Given the description of an element on the screen output the (x, y) to click on. 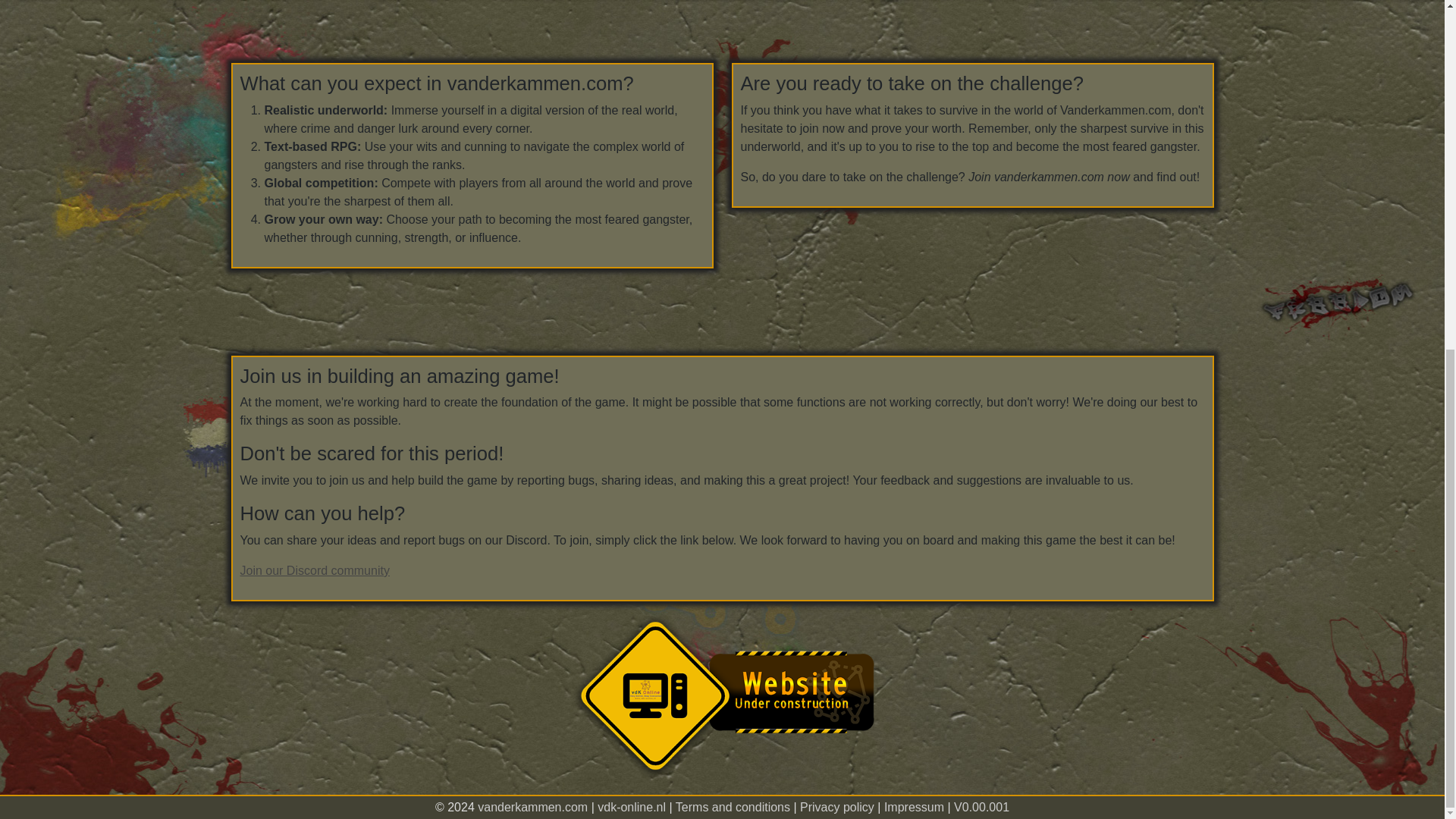
vanderkammen.com (532, 201)
Join our Discord community (314, 570)
Terms and conditions (732, 201)
Privacy policy (837, 201)
vdk-online.nl (630, 201)
Impressum (913, 201)
V0.00.001 (981, 201)
Under construction (721, 696)
